Given the description of an element on the screen output the (x, y) to click on. 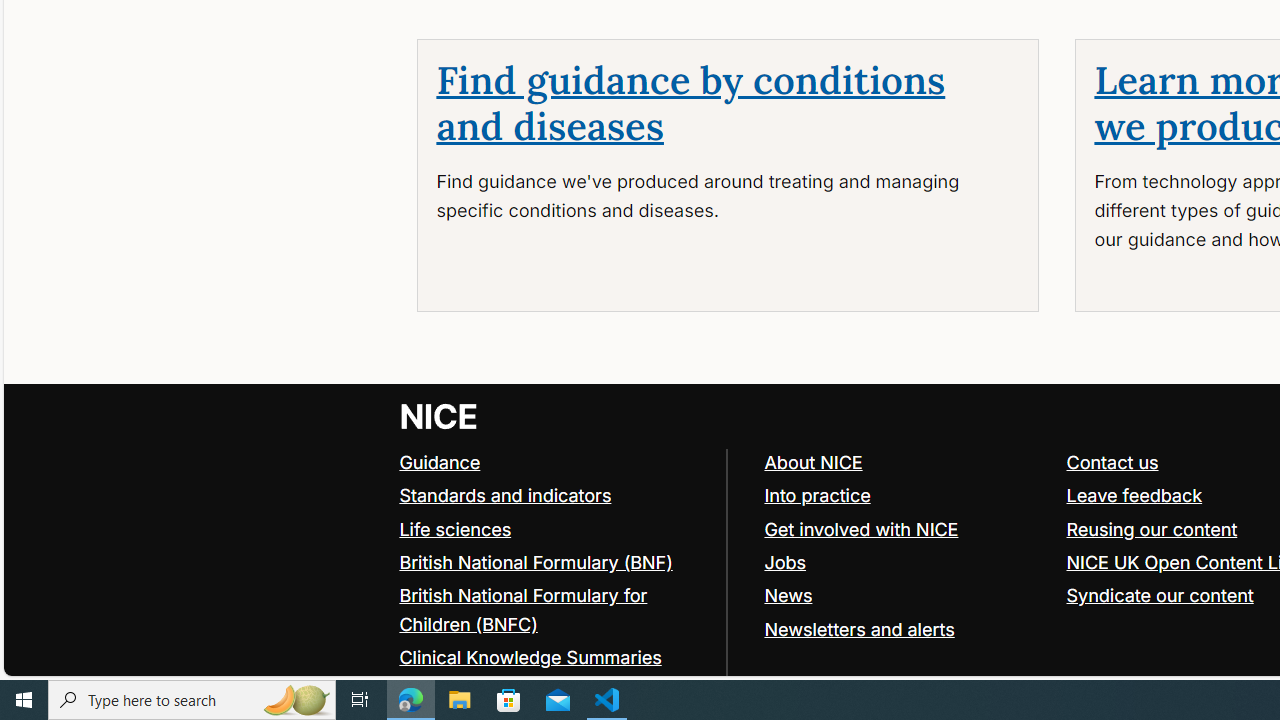
Go to NICE home page (439, 416)
Newsletters and alerts (859, 628)
Life sciences (455, 528)
Leave feedback (1134, 494)
Syndicate our content (1160, 594)
Guidance (440, 461)
Into practice (906, 495)
Get involved with NICE (906, 529)
Guidance (554, 462)
Jobs (906, 562)
Reusing our content (1151, 528)
